Given the description of an element on the screen output the (x, y) to click on. 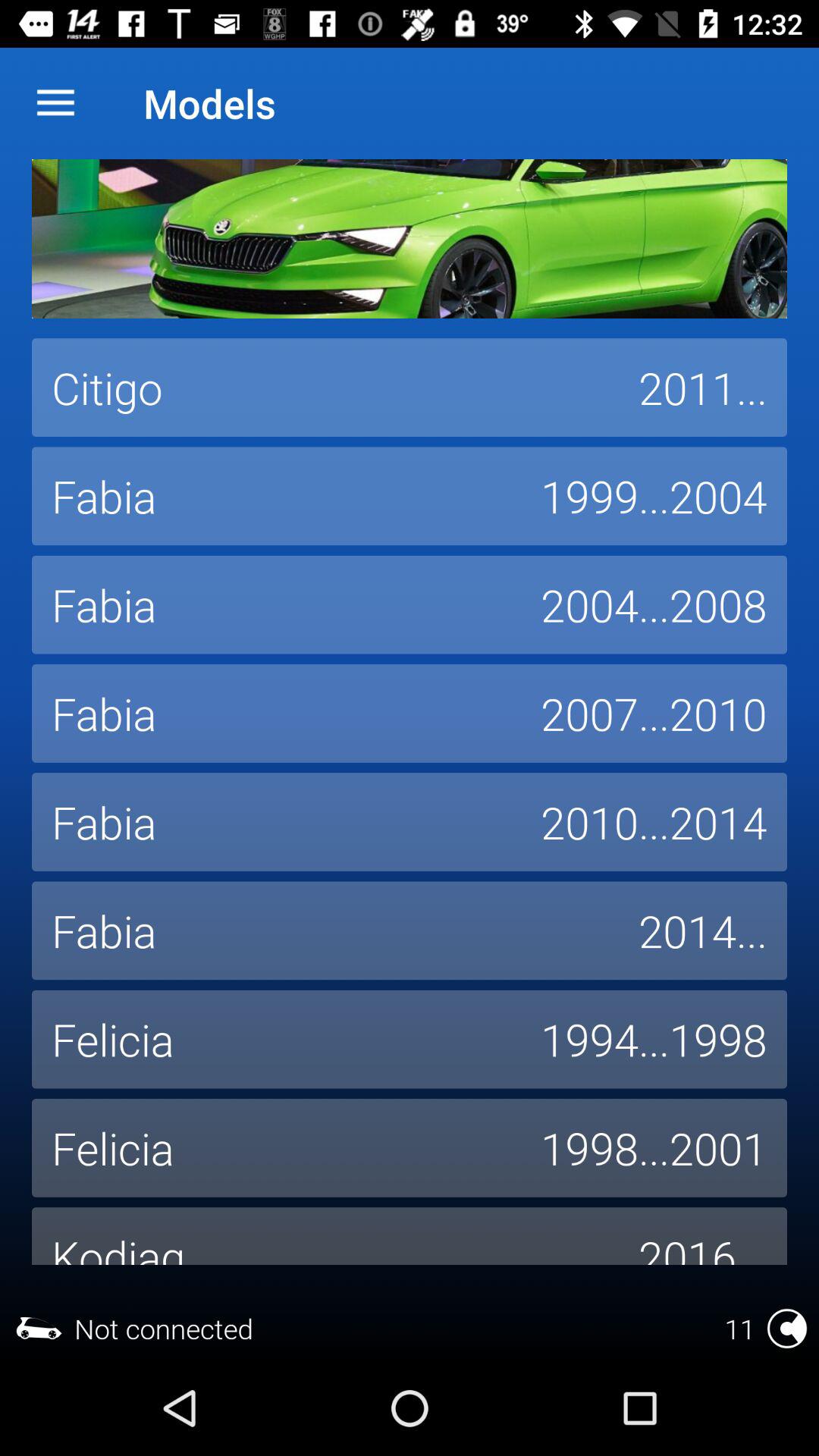
choose the icon next to 2016... icon (324, 1235)
